Given the description of an element on the screen output the (x, y) to click on. 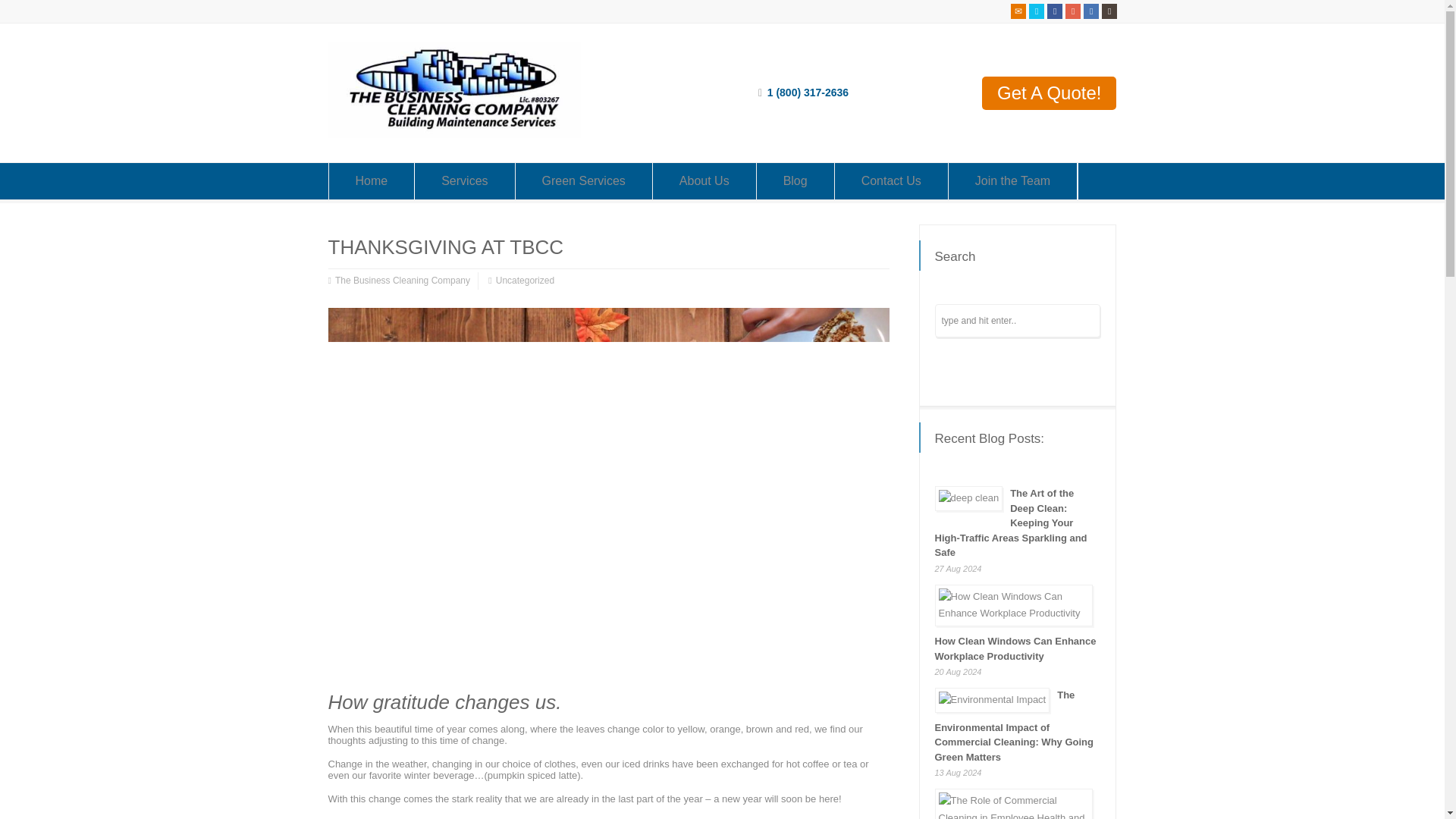
Home (371, 180)
About Us (703, 180)
Email (1017, 11)
Contact Us (890, 180)
Uncategorized (525, 280)
Services (463, 180)
Twitter (1035, 11)
Posts by The Business Cleaning Company (402, 280)
